Given the description of an element on the screen output the (x, y) to click on. 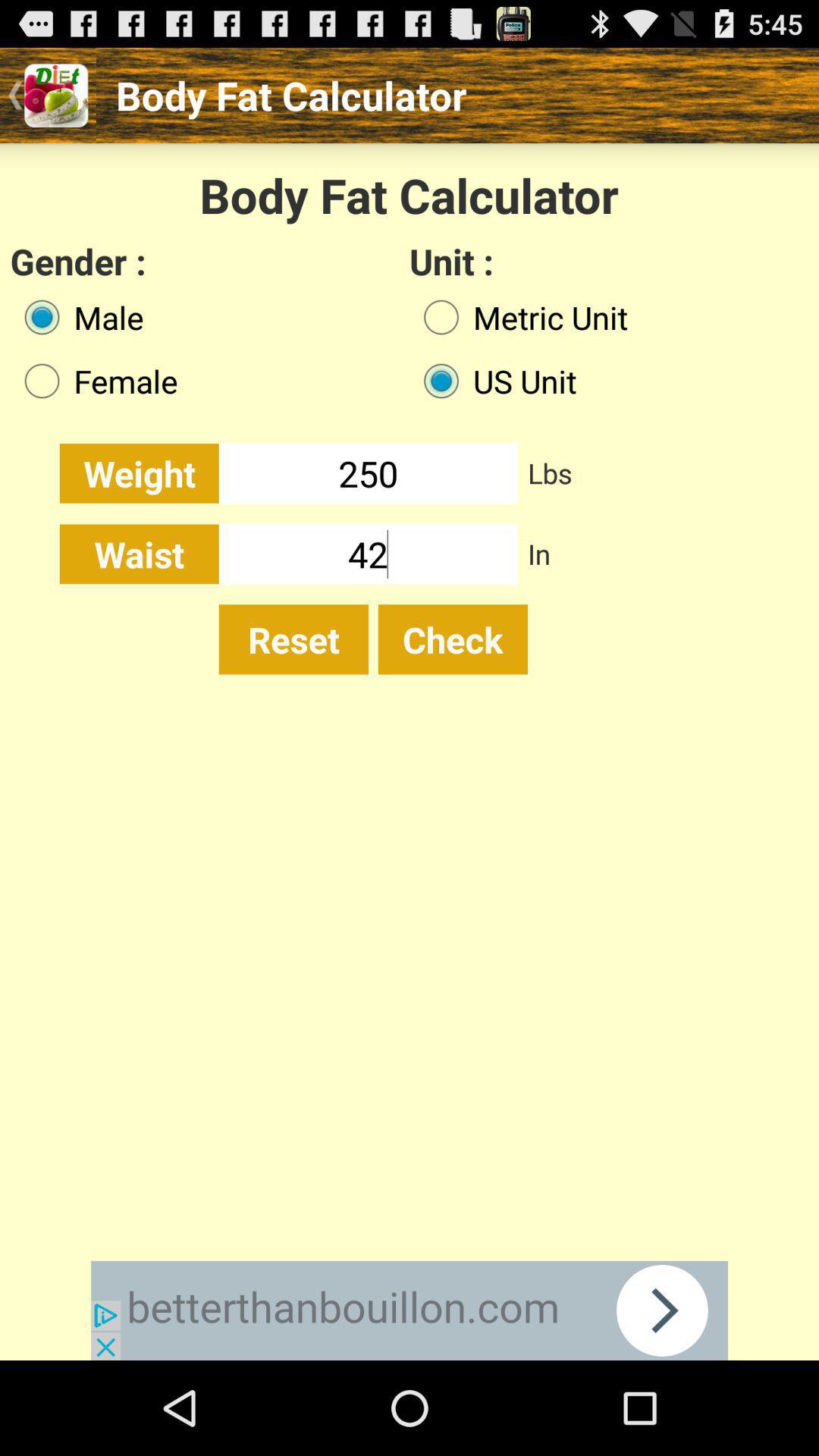
advertisement (409, 1310)
